Given the description of an element on the screen output the (x, y) to click on. 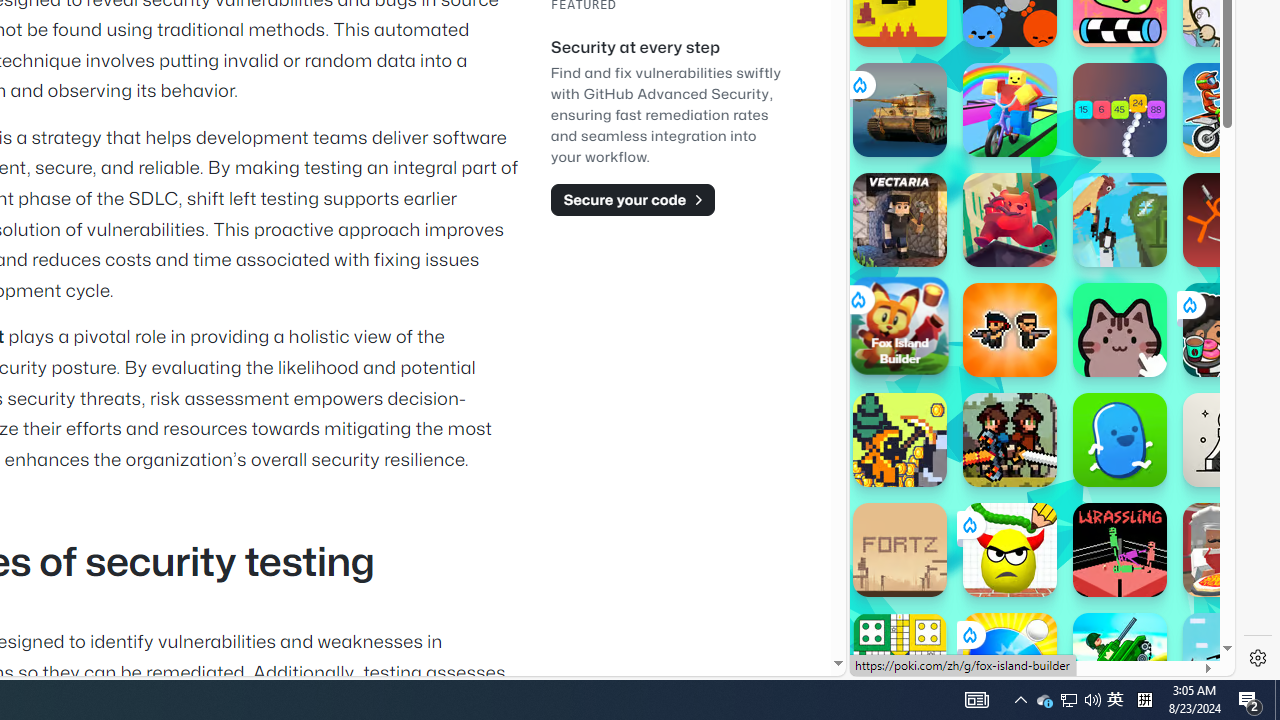
Tiger Tank Tiger Tank (899, 109)
Rooftop Snipers (1229, 659)
Kate's Cooking Party 2 Kate's Cooking Party 2 (1229, 329)
Fortz (899, 549)
Stickman Fight: Ragdoll Stickman Fight: Ragdoll (1229, 219)
Classic Chess Classic Chess (1229, 439)
Click to scroll right (1196, 247)
Shady Bears (1009, 219)
Search results from poki.com (1005, 59)
Poki (1034, 606)
Combat Reloaded (1092, 300)
Fox Island Builder Fox Island Builder (899, 325)
Secure your code (632, 199)
